Given the description of an element on the screen output the (x, y) to click on. 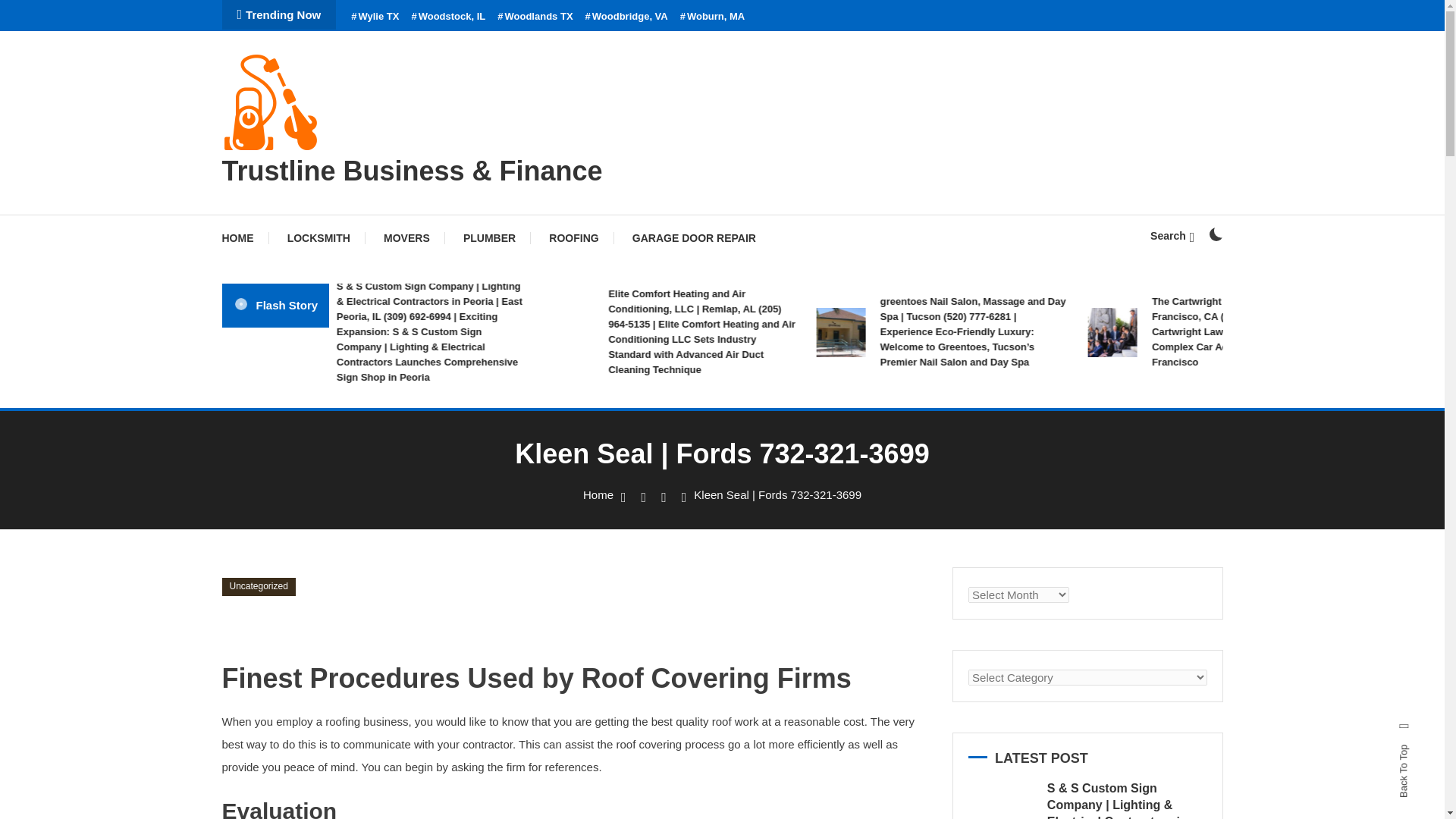
Search (1171, 235)
Home (597, 494)
LOCKSMITH (318, 238)
Woodstock, IL (447, 16)
GARAGE DOOR REPAIR (694, 238)
Wylie TX (374, 16)
HOME (244, 238)
Woodlands TX (534, 16)
Woodbridge, VA (626, 16)
MOVERS (406, 238)
